Given the description of an element on the screen output the (x, y) to click on. 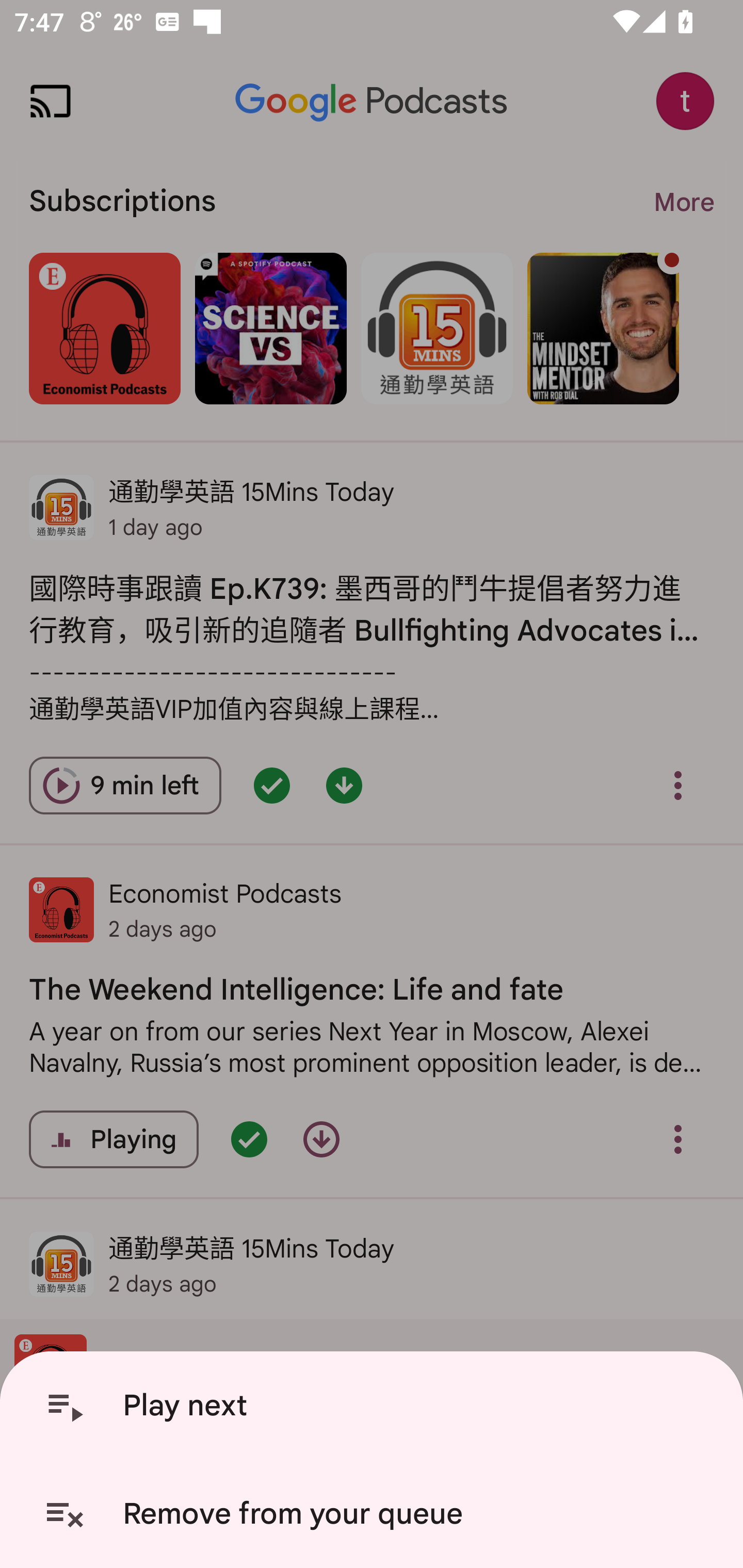
Play next (375, 1405)
Remove from your queue (375, 1513)
